Given the description of an element on the screen output the (x, y) to click on. 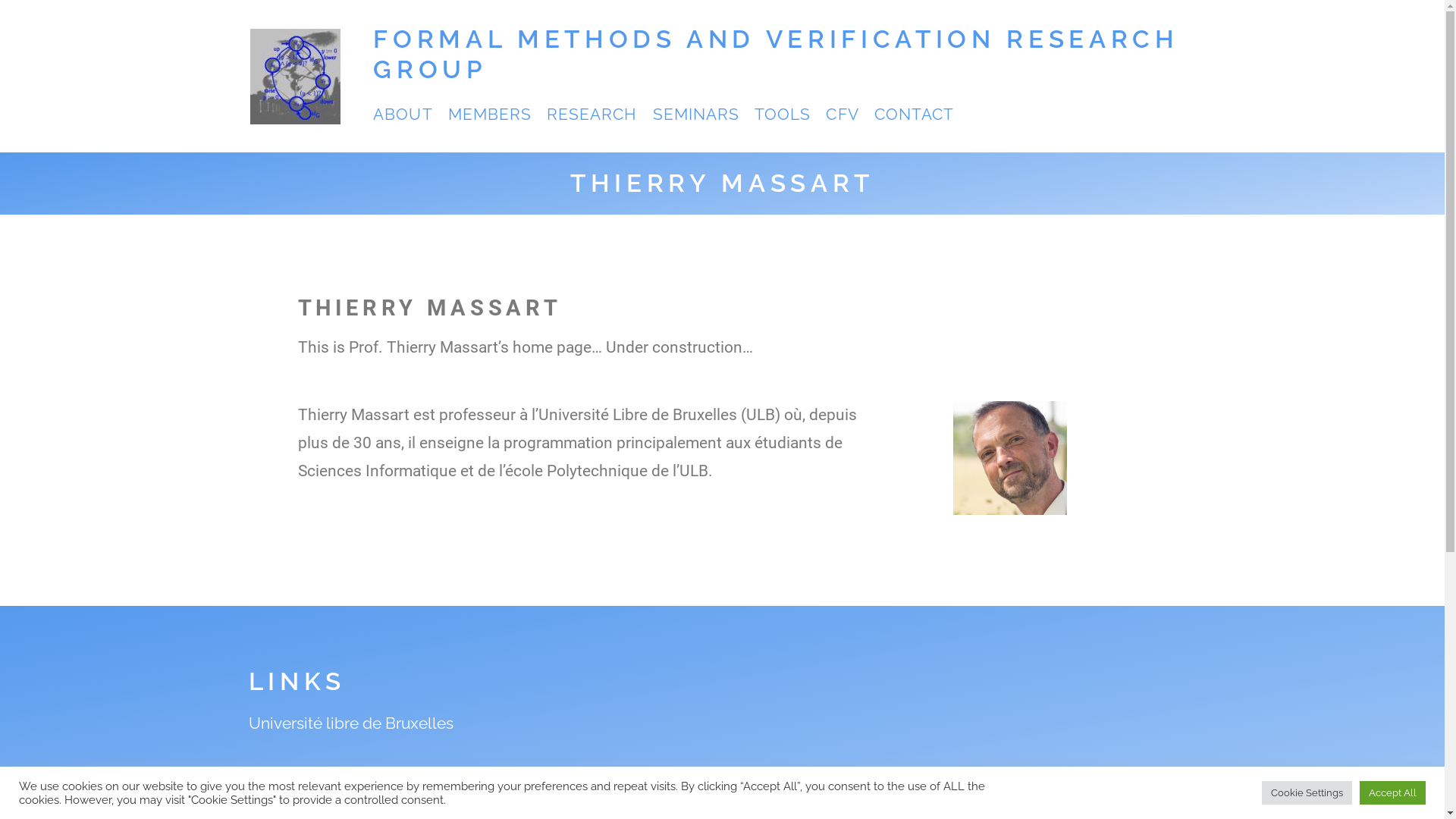
SEMINARS Element type: text (695, 113)
CONTACT Element type: text (913, 113)
FORMAL METHODS AND VERIFICATION RESEARCH GROUP Element type: text (775, 54)
Accept All Element type: text (1392, 792)
Computer Science Department Element type: text (362, 774)
CFV Element type: text (841, 113)
MEMBERS Element type: text (489, 113)
ABOUT Element type: text (402, 113)
RESEARCH Element type: text (591, 113)
TOOLS Element type: text (782, 113)
Cookie Settings Element type: text (1306, 792)
